Given the description of an element on the screen output the (x, y) to click on. 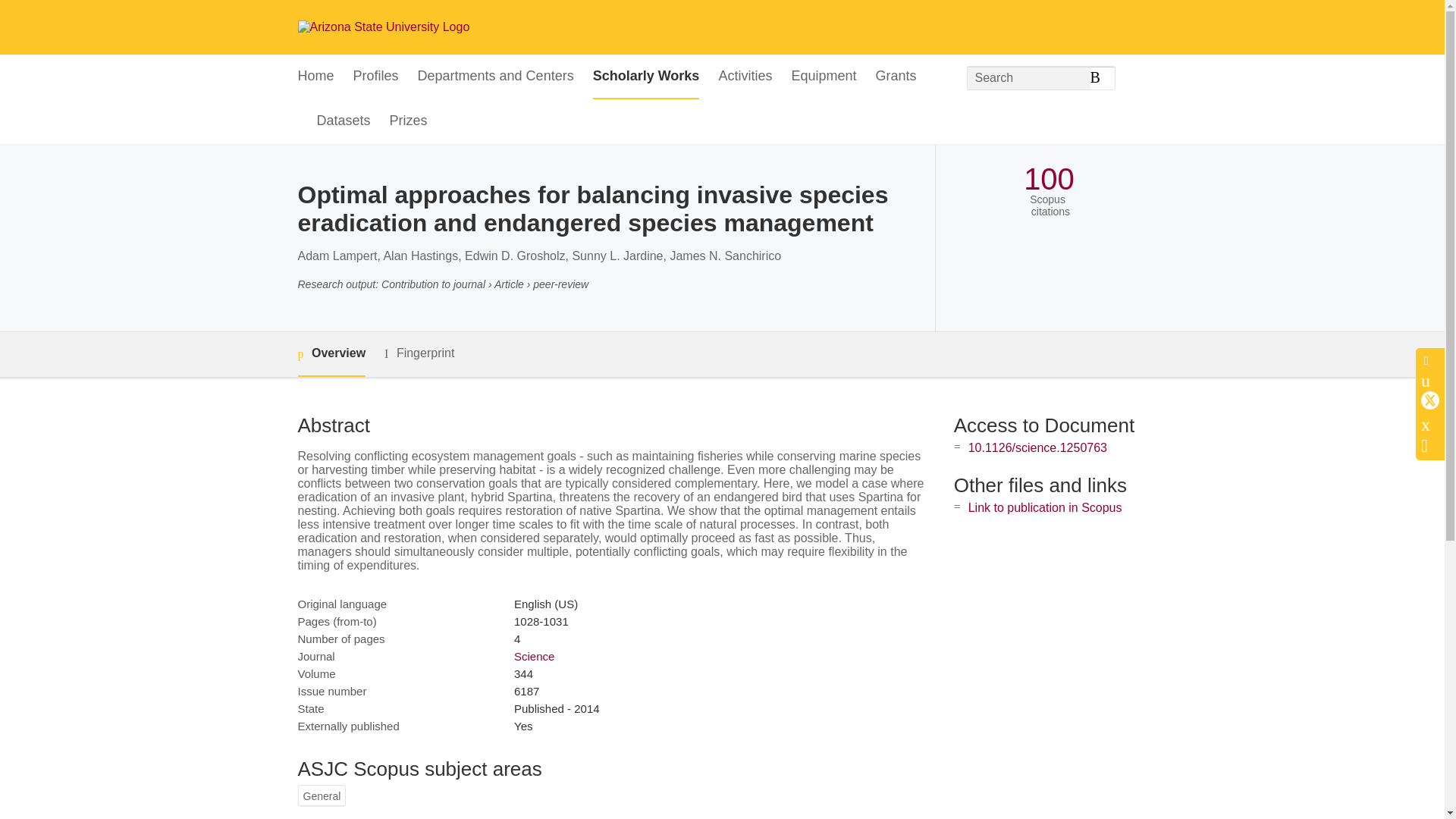
Fingerprint (419, 353)
100 (1048, 179)
Datasets (344, 121)
Overview (331, 354)
Departments and Centers (495, 76)
Equipment (823, 76)
Science (533, 656)
Profiles (375, 76)
Grants (895, 76)
